Given the description of an element on the screen output the (x, y) to click on. 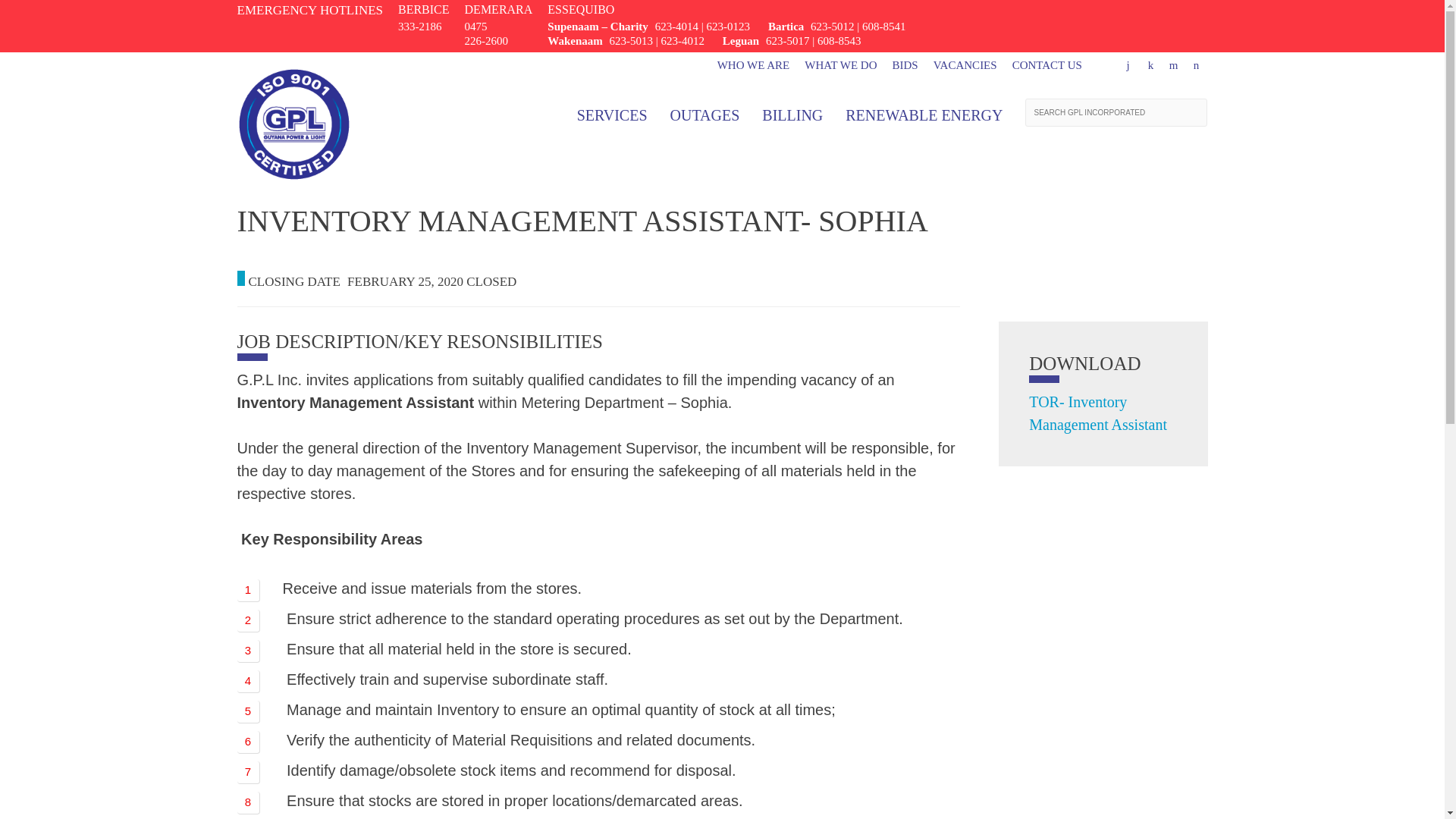
Guyana Power and Light Incorporated (292, 190)
WHAT WE DO (840, 64)
CONTACT US (1046, 64)
TOR- Inventory Management Assistant (1098, 413)
WHO WE ARE (753, 64)
OUTAGES (704, 115)
VACANCIES (965, 64)
SERVICES (611, 115)
BILLING (791, 115)
BIDS (905, 64)
RENEWABLE ENERGY (924, 115)
